Given the description of an element on the screen output the (x, y) to click on. 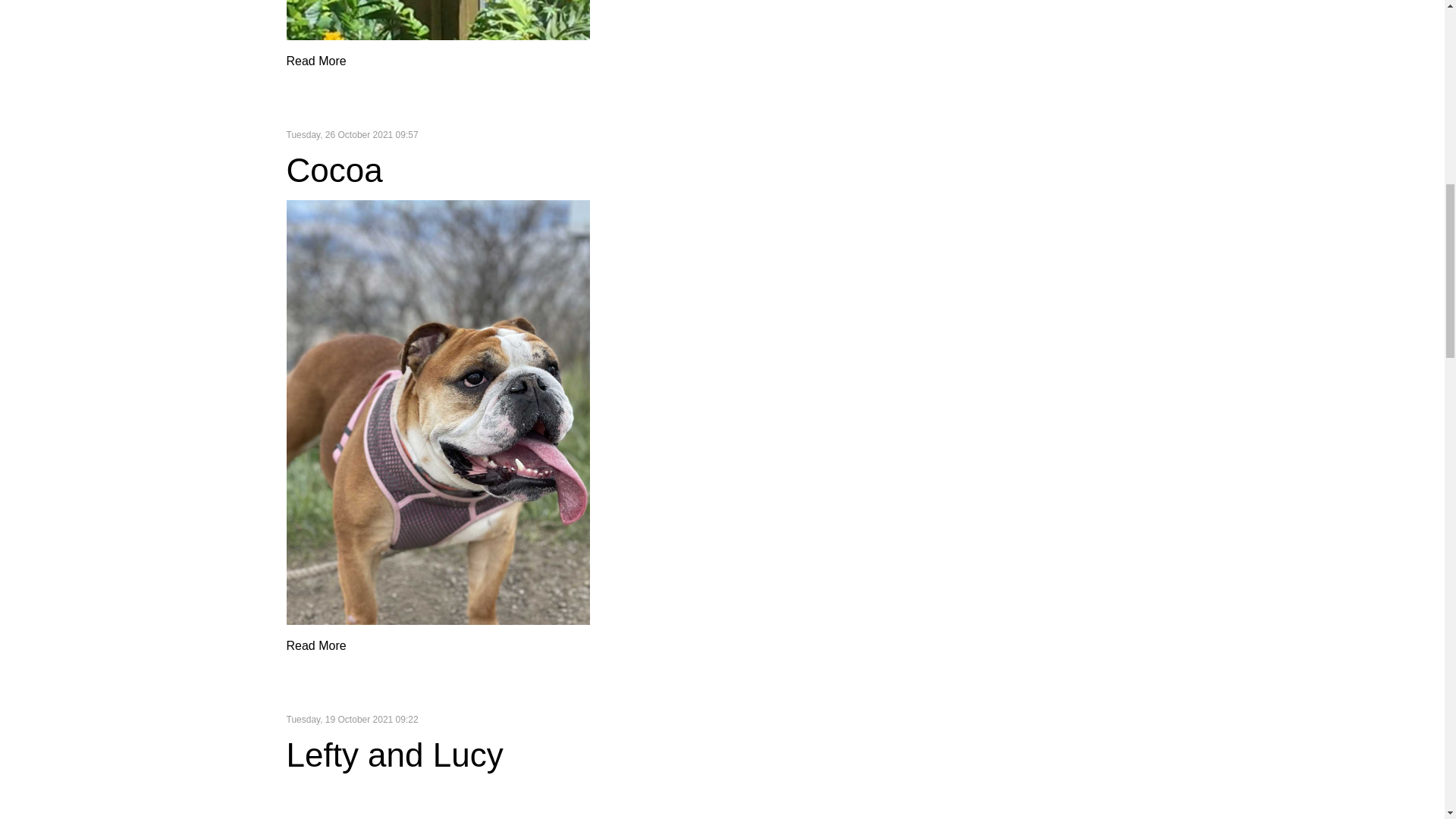
Read More (316, 645)
Zoe (437, 20)
Lefty and Lucy (394, 754)
Lefty and Lucy (437, 801)
Cocoa (334, 170)
Read More (316, 60)
